Given the description of an element on the screen output the (x, y) to click on. 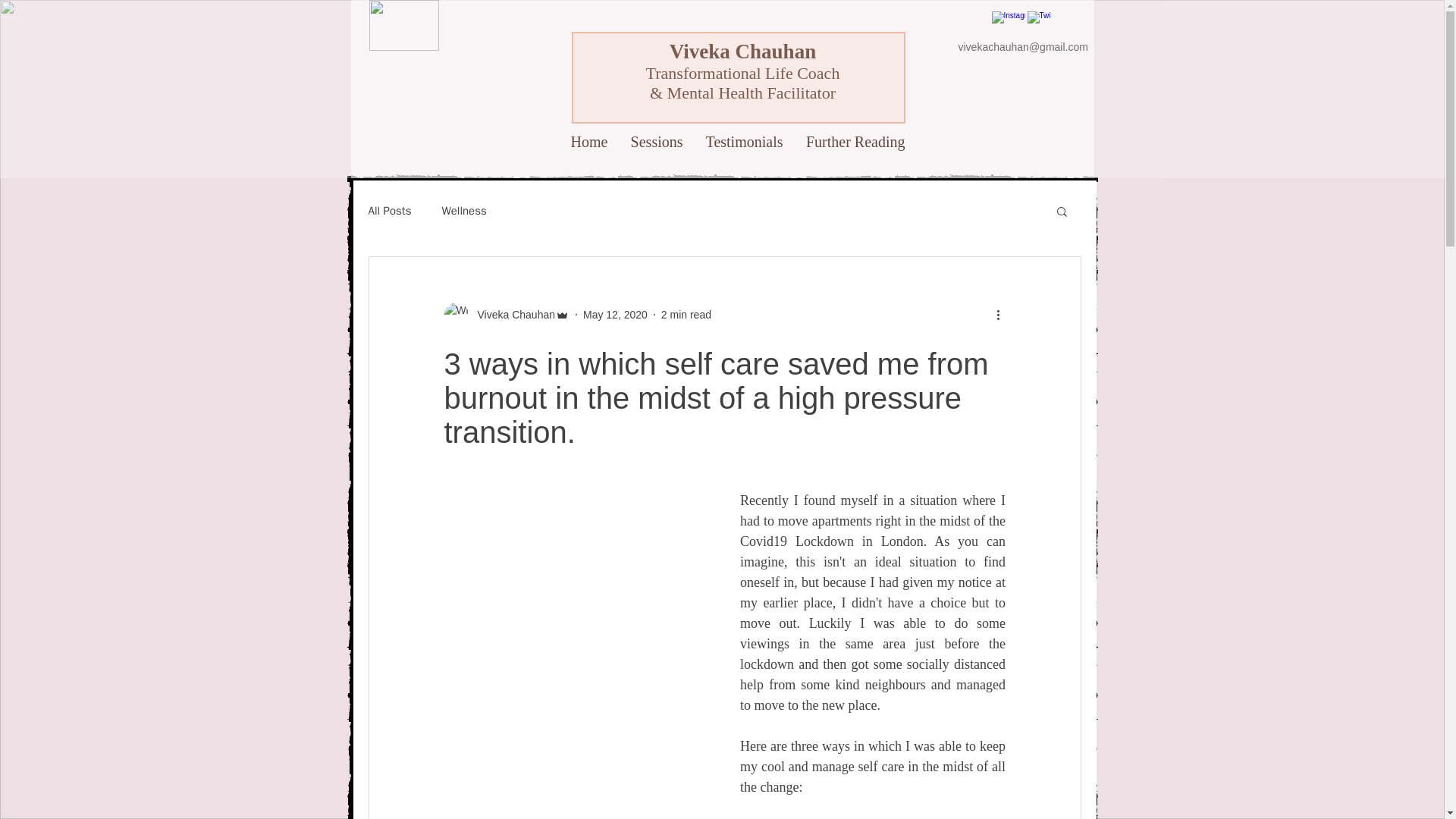
Testimonials (744, 142)
Viveka Chauhan (506, 314)
All Posts (390, 210)
Viveka Chauhan (511, 314)
Wellness (463, 210)
2 min read (686, 313)
Sessions (656, 142)
Further Reading (855, 142)
Viveka Chauhan (742, 51)
May 12, 2020 (615, 313)
